Given the description of an element on the screen output the (x, y) to click on. 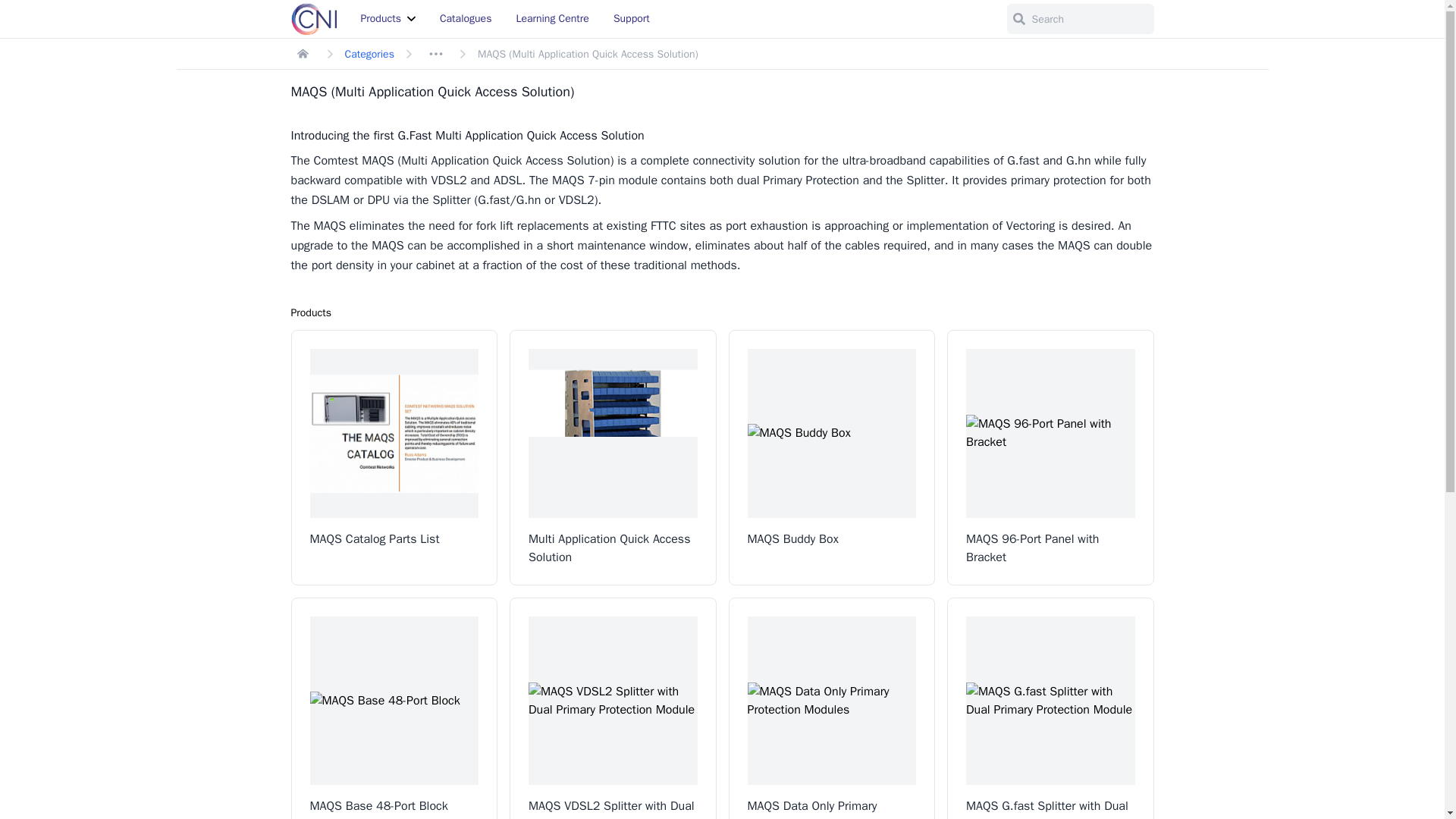
Support (631, 18)
Comtest Networks (313, 19)
Learning Centre (551, 18)
MAQS Base 48-Port Block (394, 708)
Products (388, 18)
Home (303, 53)
Categories (368, 53)
MAQS Data Only Primary Protection Modules (831, 708)
MAQS G.fast Splitter with Dual Primary Protection Module (1050, 708)
MAQS VDSL2 Splitter with Dual Primary Protection Module (612, 708)
